Given the description of an element on the screen output the (x, y) to click on. 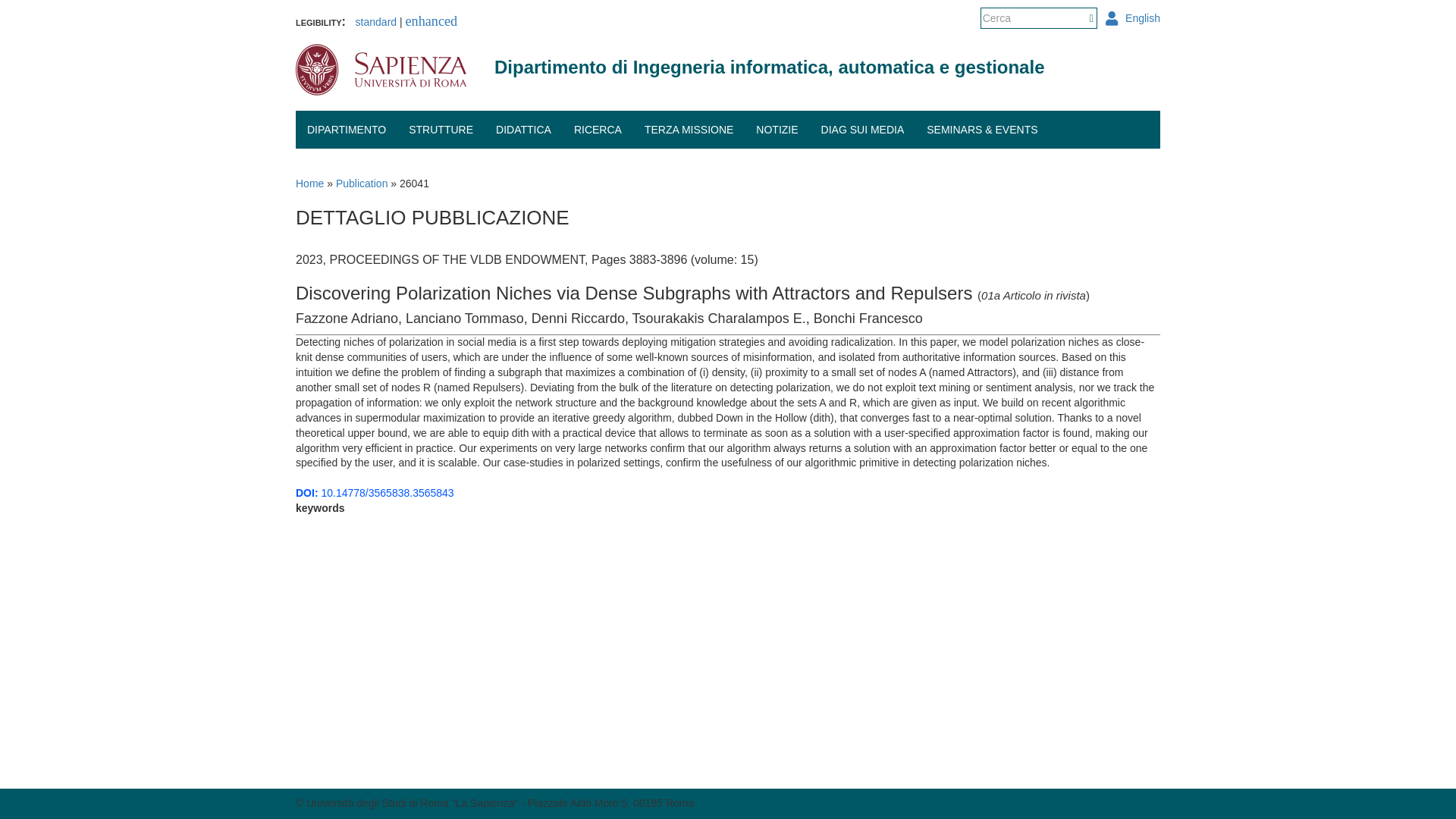
English (1142, 18)
enhanced (432, 20)
Home Page (769, 66)
Inserisci i termini da cercare. (1032, 17)
DIPARTIMENTO (346, 129)
Cerca (983, 38)
standard (375, 21)
RICERCA (597, 129)
STRUTTURE (440, 129)
DIDATTICA (523, 129)
